Given the description of an element on the screen output the (x, y) to click on. 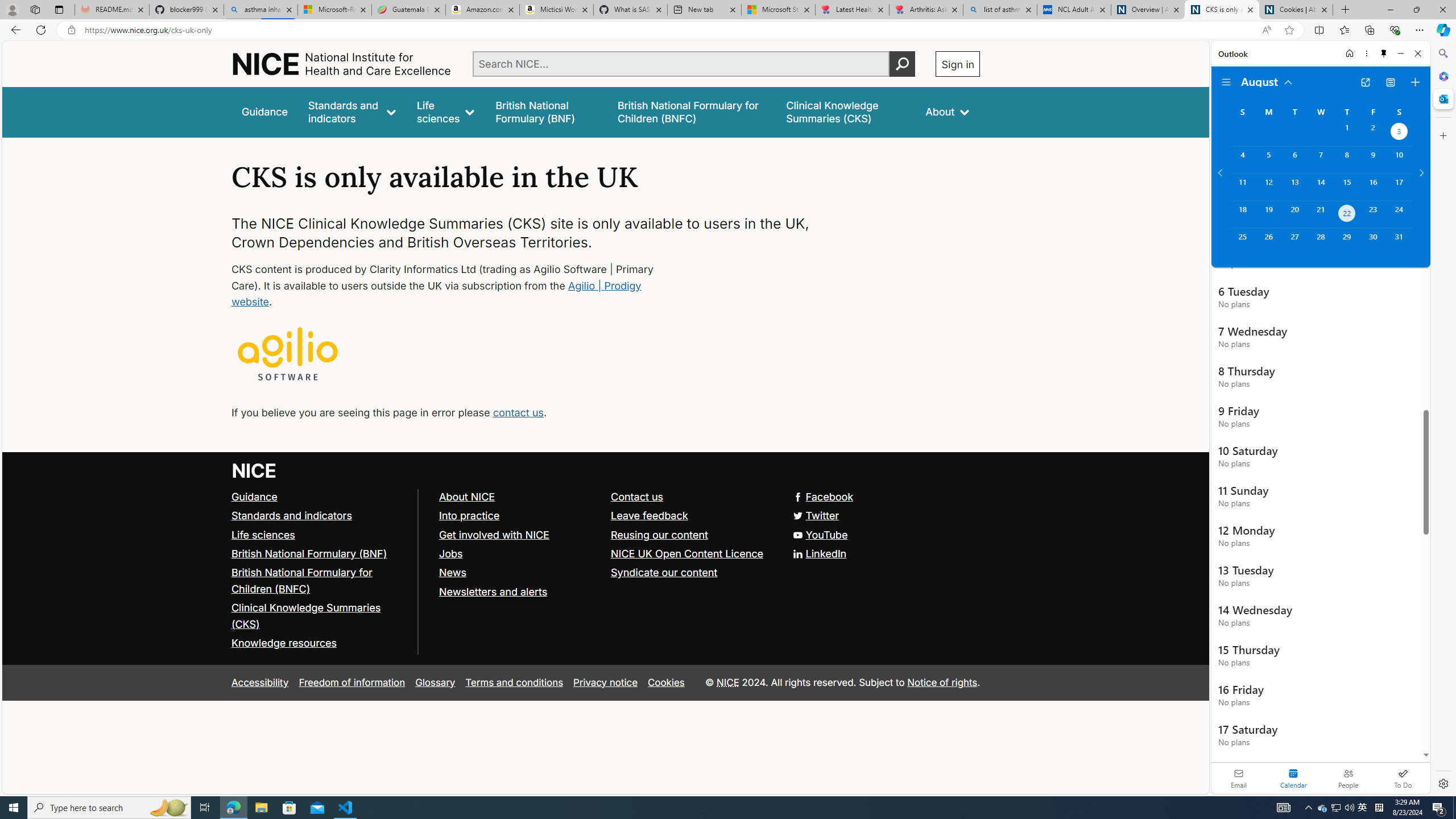
NICE UK Open Content Licence (692, 553)
Contact us (692, 496)
Reusing our content (692, 534)
Saturday, August 3, 2024. Date selected.  (1399, 132)
Sunday, August 25, 2024.  (1242, 241)
Freedom of information (352, 682)
